Given the description of an element on the screen output the (x, y) to click on. 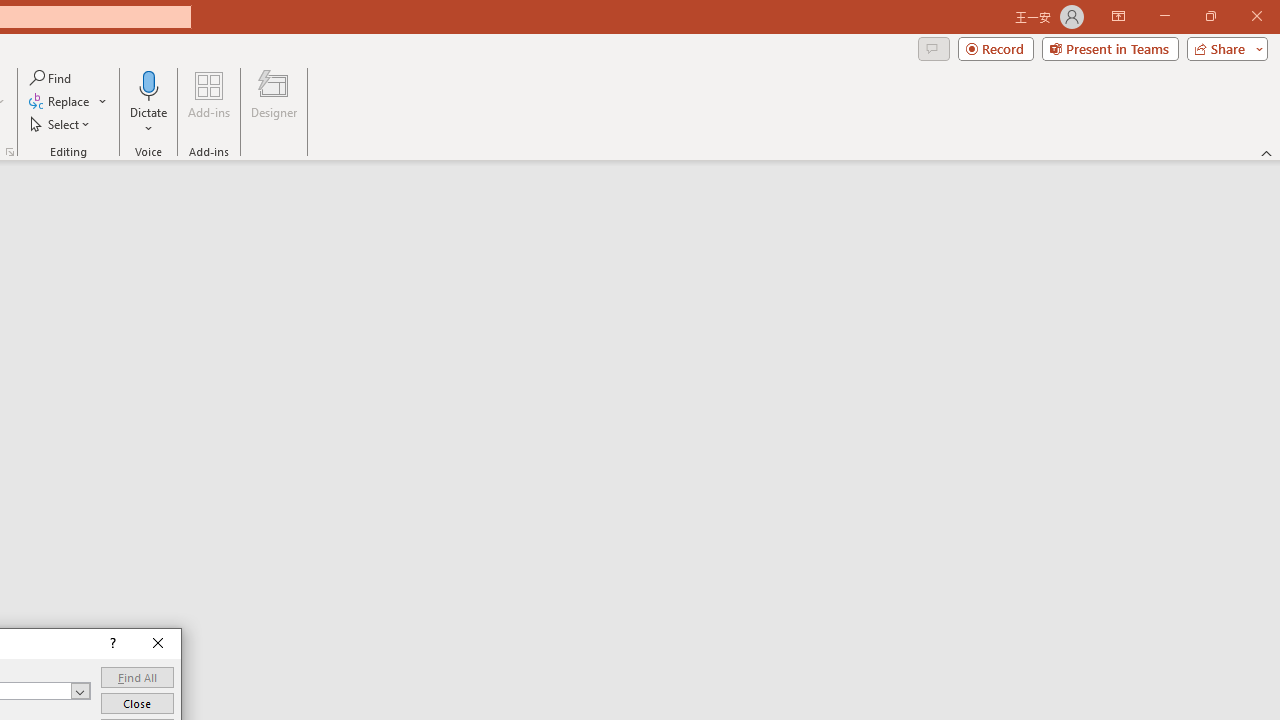
Context help (111, 643)
